Given the description of an element on the screen output the (x, y) to click on. 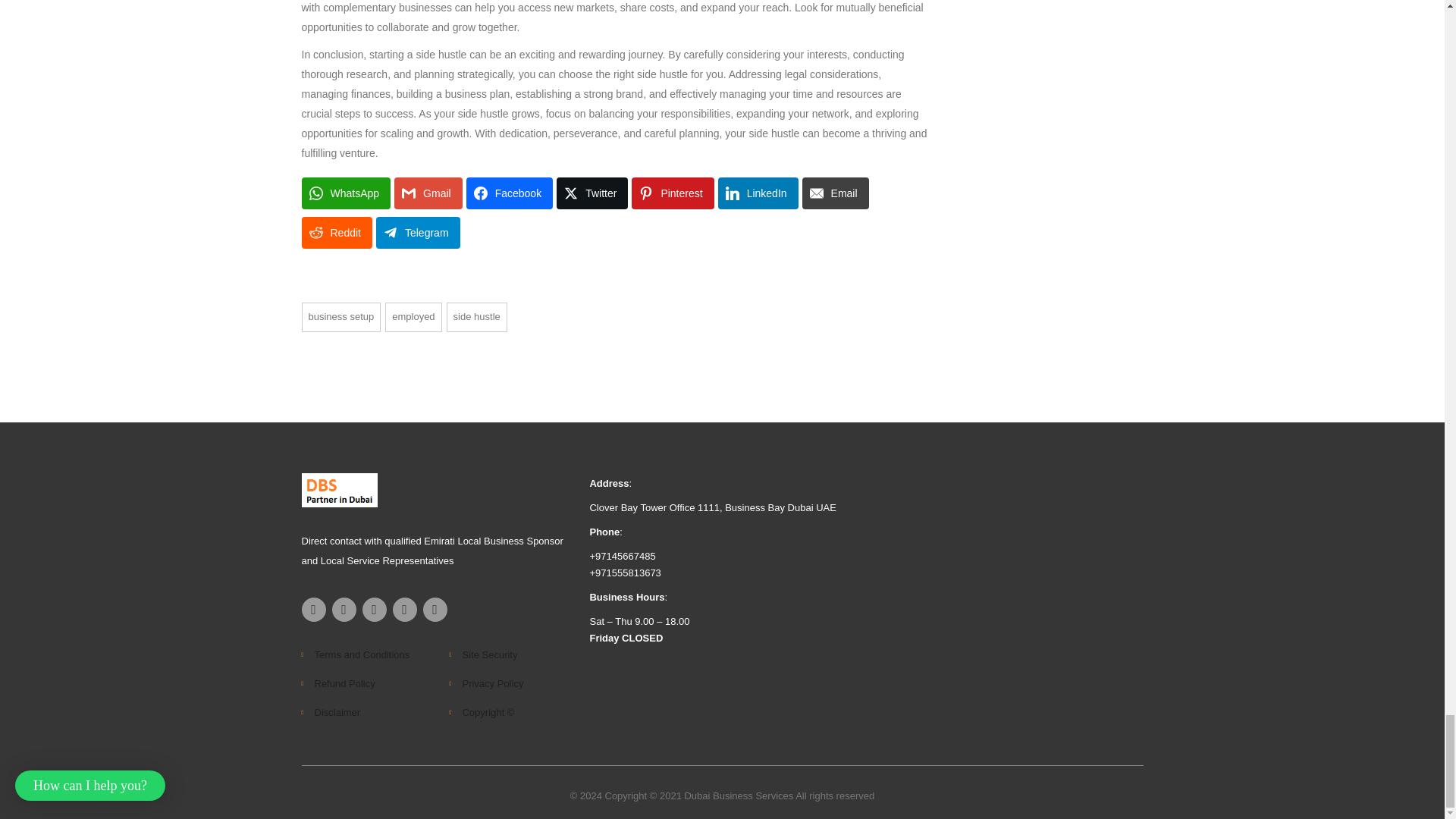
Facebook (509, 193)
Share on Pinterest (672, 193)
LinkedIn (757, 193)
Share on Facebook (509, 193)
WhatsApp (346, 193)
Gmail (428, 193)
Share on Twitter (591, 193)
Share on Reddit (336, 232)
employed (413, 317)
Share on LinkedIn (757, 193)
Twitter (591, 193)
Reddit (336, 232)
business setup (341, 317)
Telegram (417, 232)
Share on Email (835, 193)
